Given the description of an element on the screen output the (x, y) to click on. 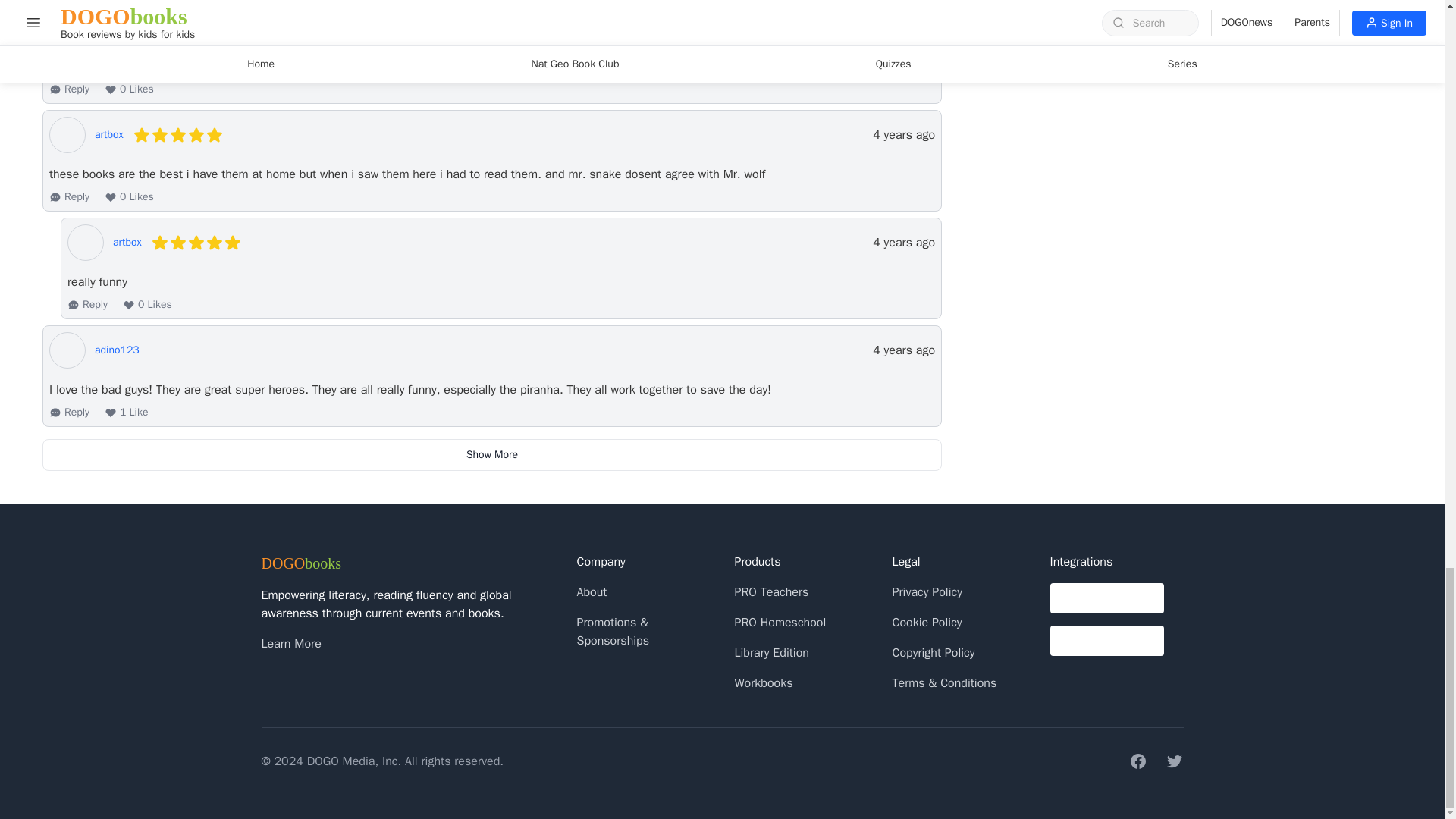
January 6, 2021 (903, 27)
November 14, 2020 (903, 135)
November 14, 2020 (903, 242)
August 19, 2020 (903, 350)
